Given the description of an element on the screen output the (x, y) to click on. 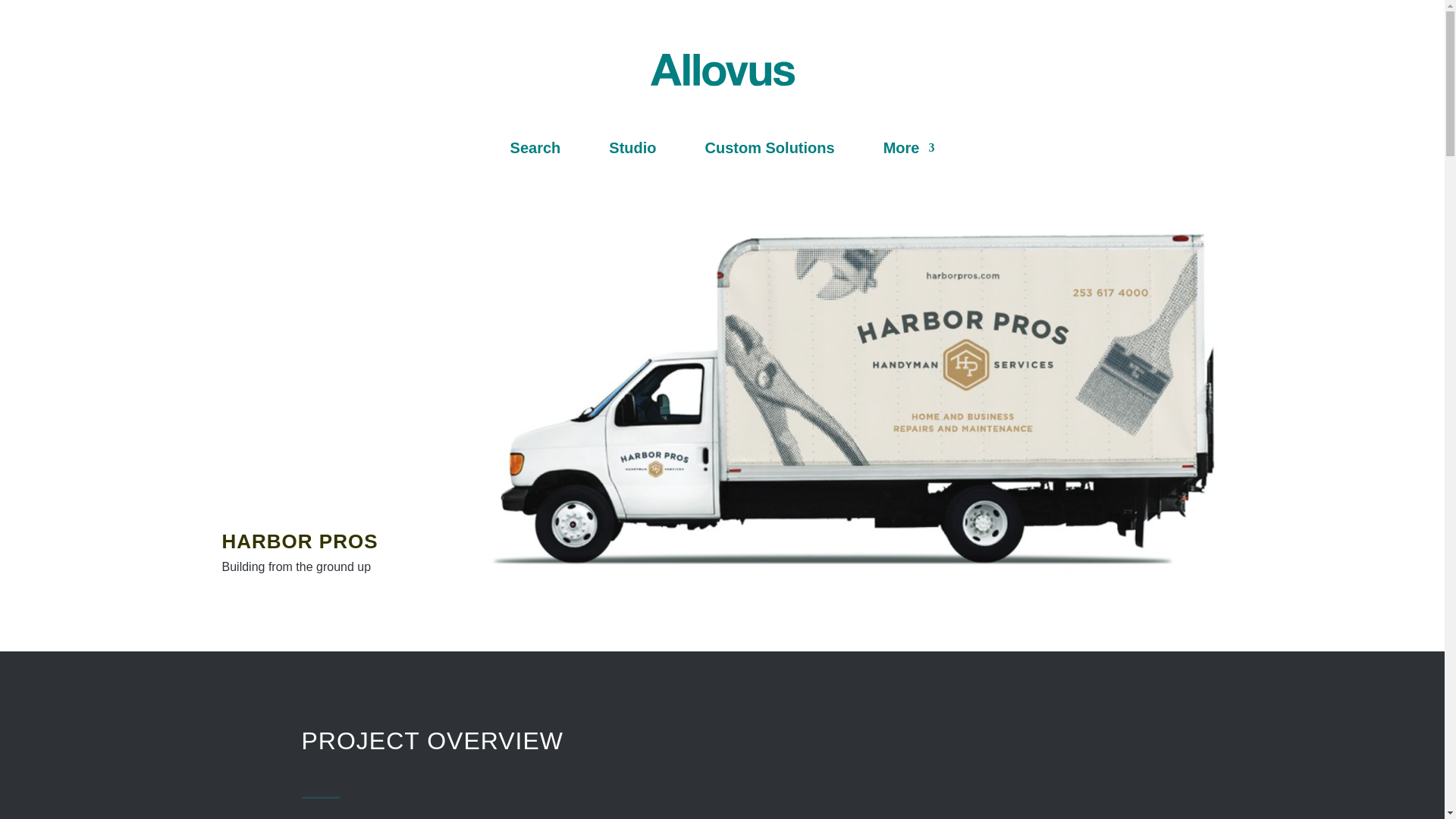
Search (535, 150)
Studio (632, 150)
Custom Solutions (769, 150)
More (908, 150)
Allovus (722, 70)
